Given the description of an element on the screen output the (x, y) to click on. 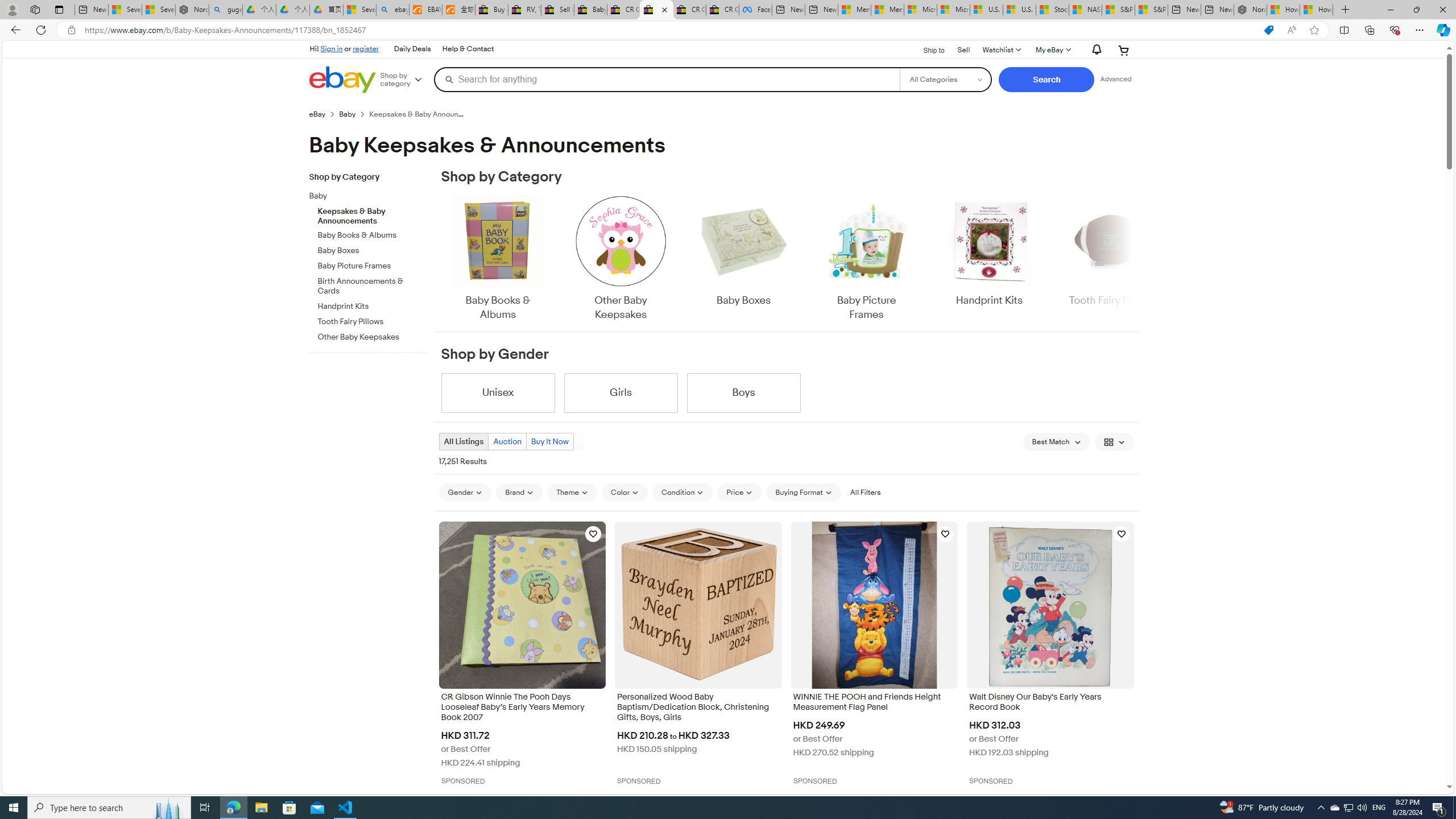
Gender (465, 492)
Keepsakes & Baby Announcements (371, 214)
Close tab (664, 9)
Unisex (497, 392)
Restore (1416, 9)
Other Baby Keepsakes (620, 258)
Workspaces (34, 9)
Expand Cart (1123, 49)
S&P 500, Nasdaq end lower, weighed by Nvidia dip | Watch (1150, 9)
WINNIE THE POOH and Friends Height Measurement Flag Panel (874, 703)
Search for anything (666, 78)
Ship to (926, 50)
Tab actions menu (58, 9)
